Given the description of an element on the screen output the (x, y) to click on. 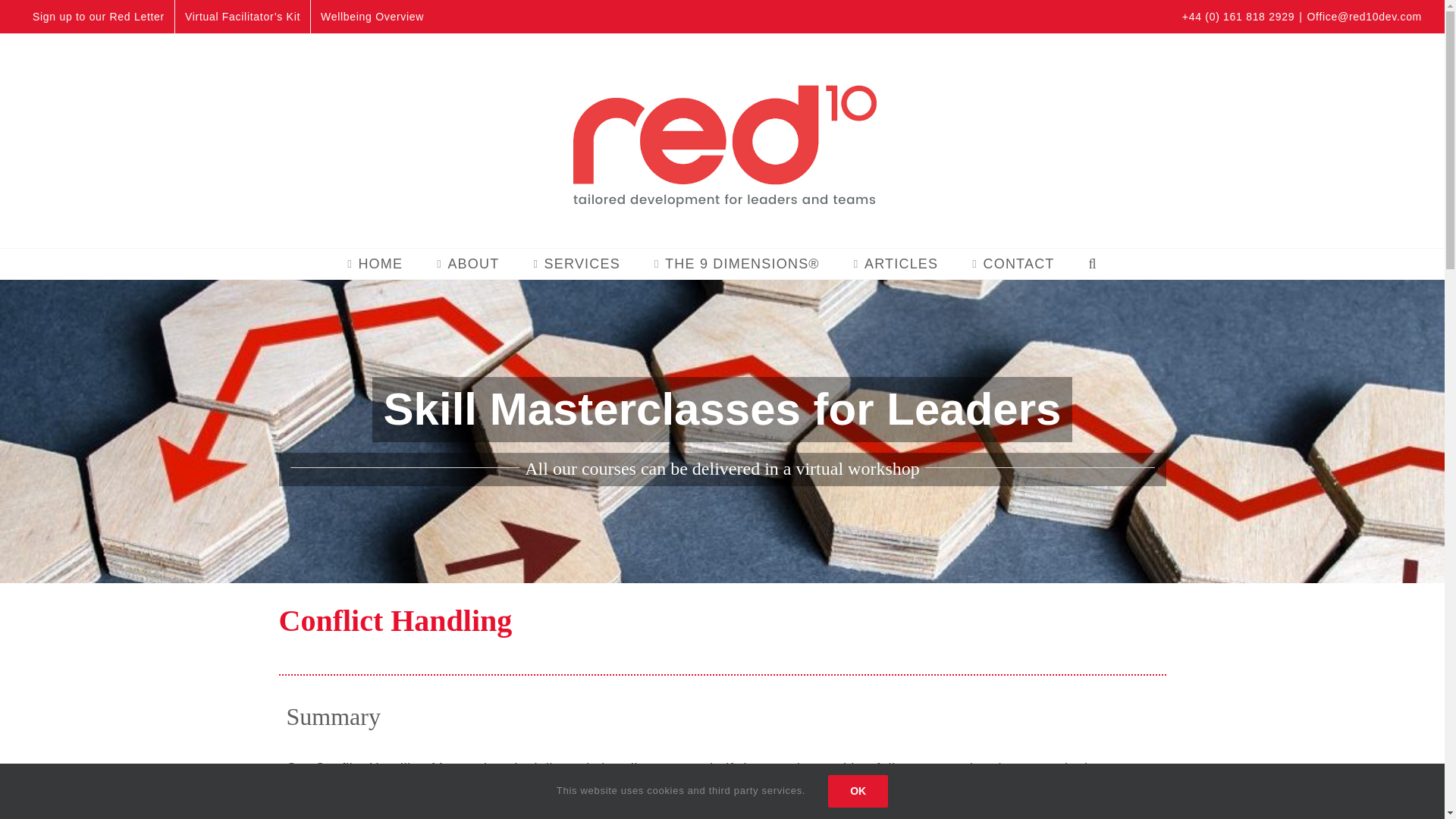
HOME (375, 263)
Wellbeing Overview (372, 16)
Conflict Handling (722, 628)
ARTICLES (896, 263)
Sign up to our Red Letter (98, 16)
SERVICES (576, 263)
CONTACT (1013, 263)
ABOUT (467, 263)
